Given the description of an element on the screen output the (x, y) to click on. 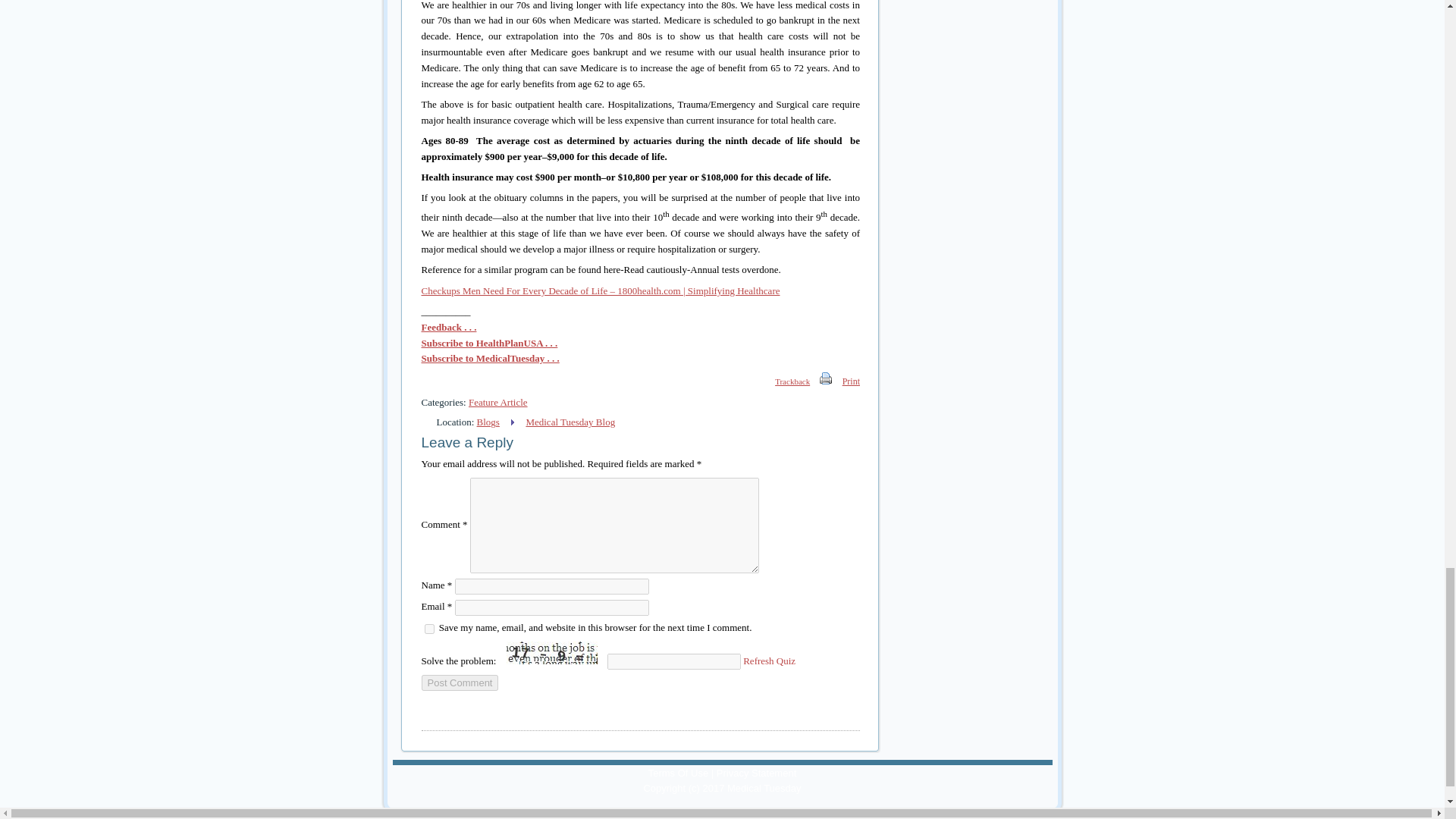
Print (825, 378)
yes (429, 628)
Print (826, 381)
Post Comment (460, 682)
Feature Article (497, 401)
Print (851, 381)
Blogs (488, 421)
Refresh Quiz (768, 660)
Post Comment (460, 682)
Feedback . . . (449, 326)
